Given the description of an element on the screen output the (x, y) to click on. 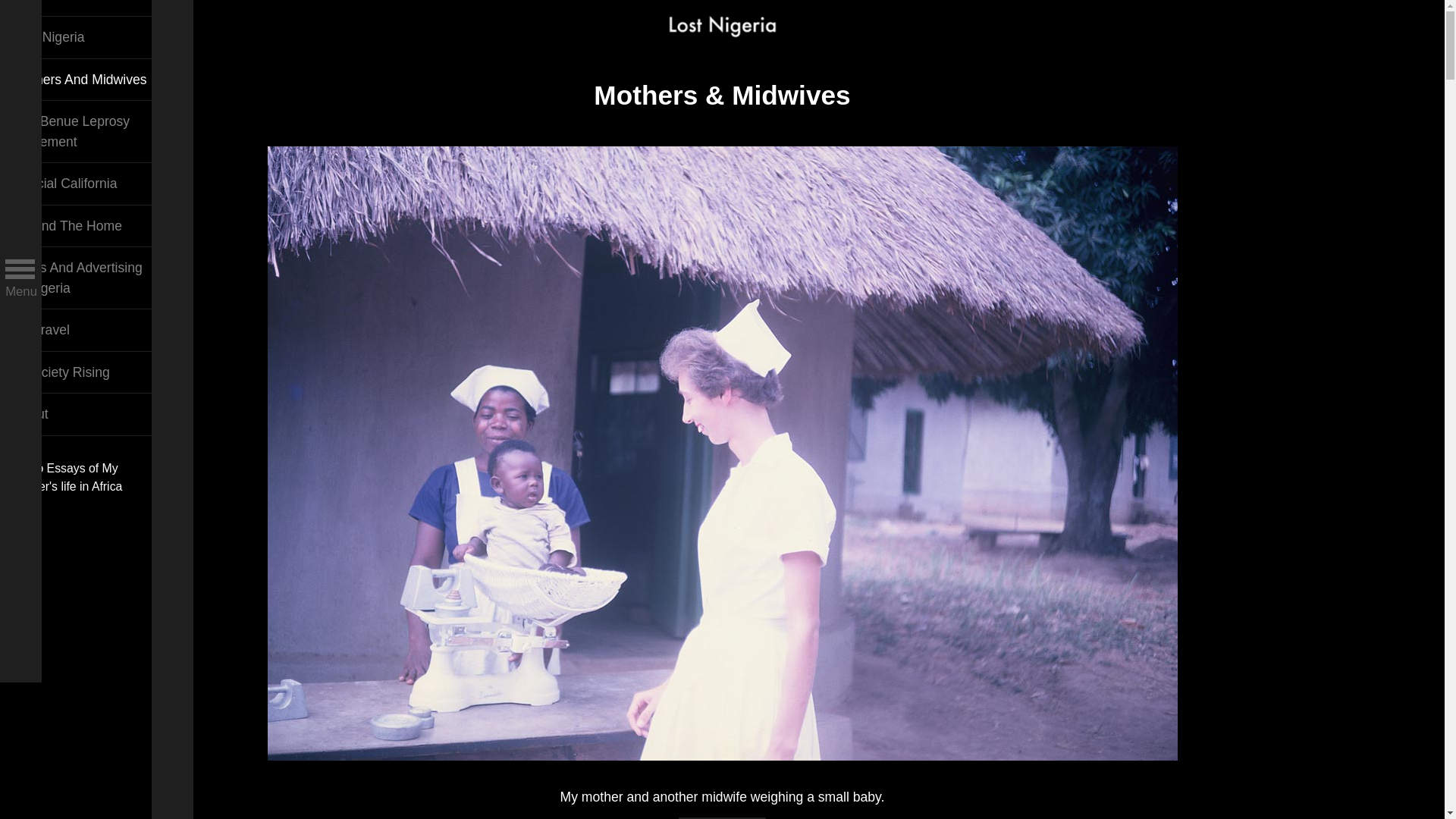
Air Travel (80, 330)
Around The Home (80, 226)
A Society Rising (80, 372)
Signs And Advertising In Nigeria (80, 277)
Biracial California (80, 183)
Mothers And Midwives (80, 79)
About (80, 413)
Lost Nigeria (80, 37)
The Benue Leprosy Settlement (80, 131)
